Given the description of an element on the screen output the (x, y) to click on. 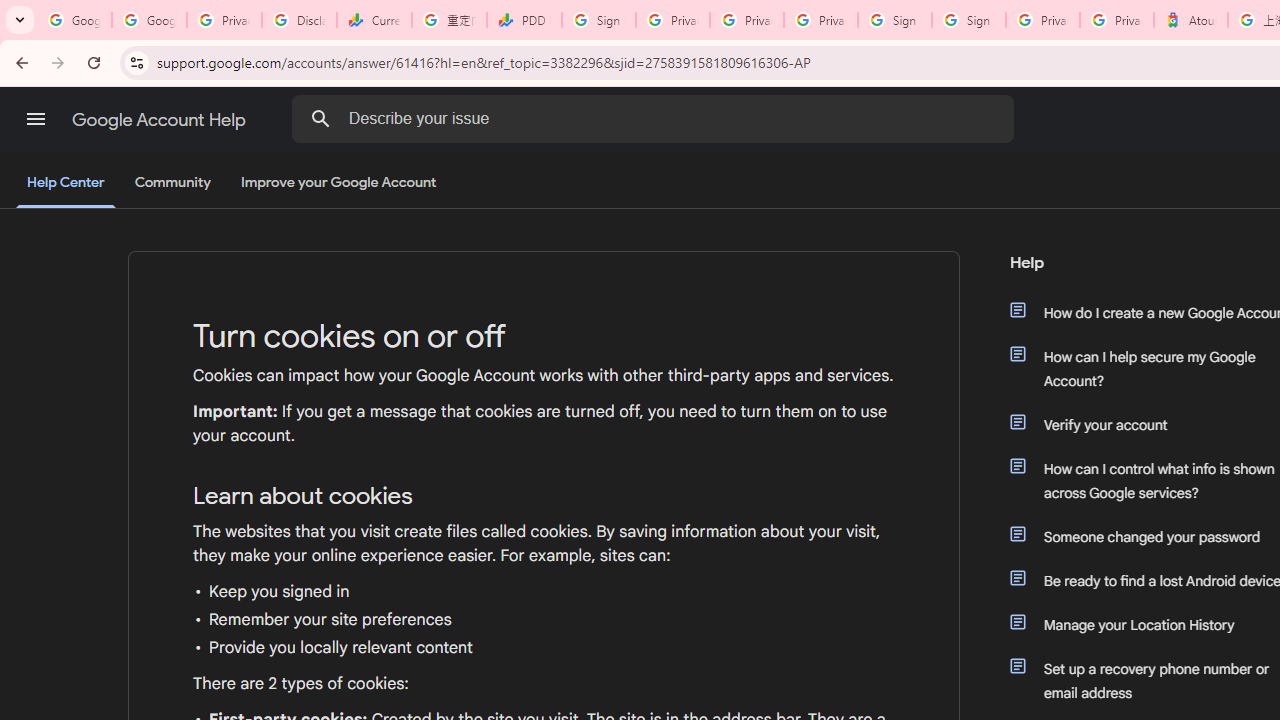
Sign in - Google Accounts (894, 20)
Google Account Help (160, 119)
